Given the description of an element on the screen output the (x, y) to click on. 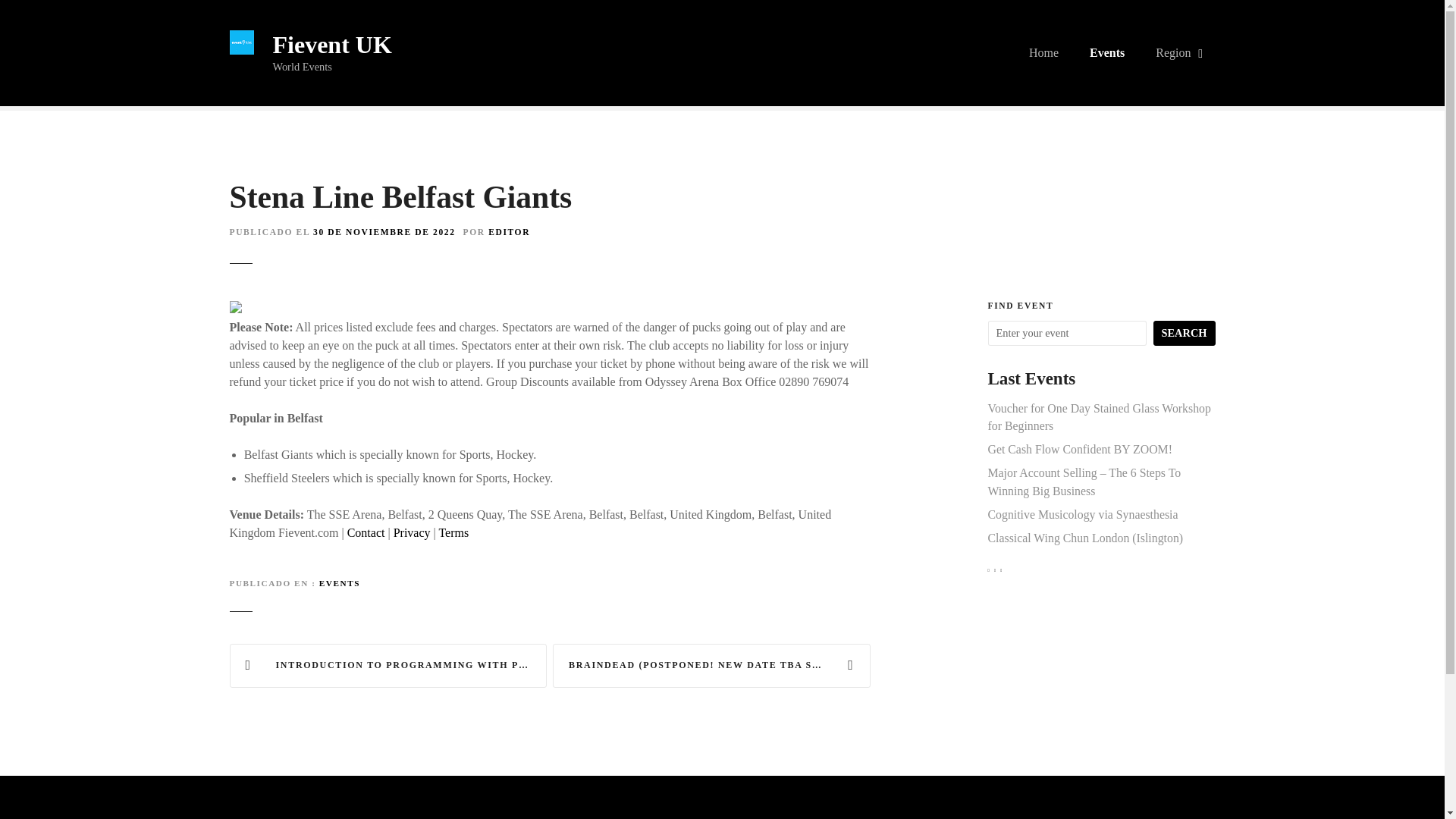
Events (1107, 53)
Fievent UK (332, 44)
Region (1177, 53)
Home (1043, 53)
